Given the description of an element on the screen output the (x, y) to click on. 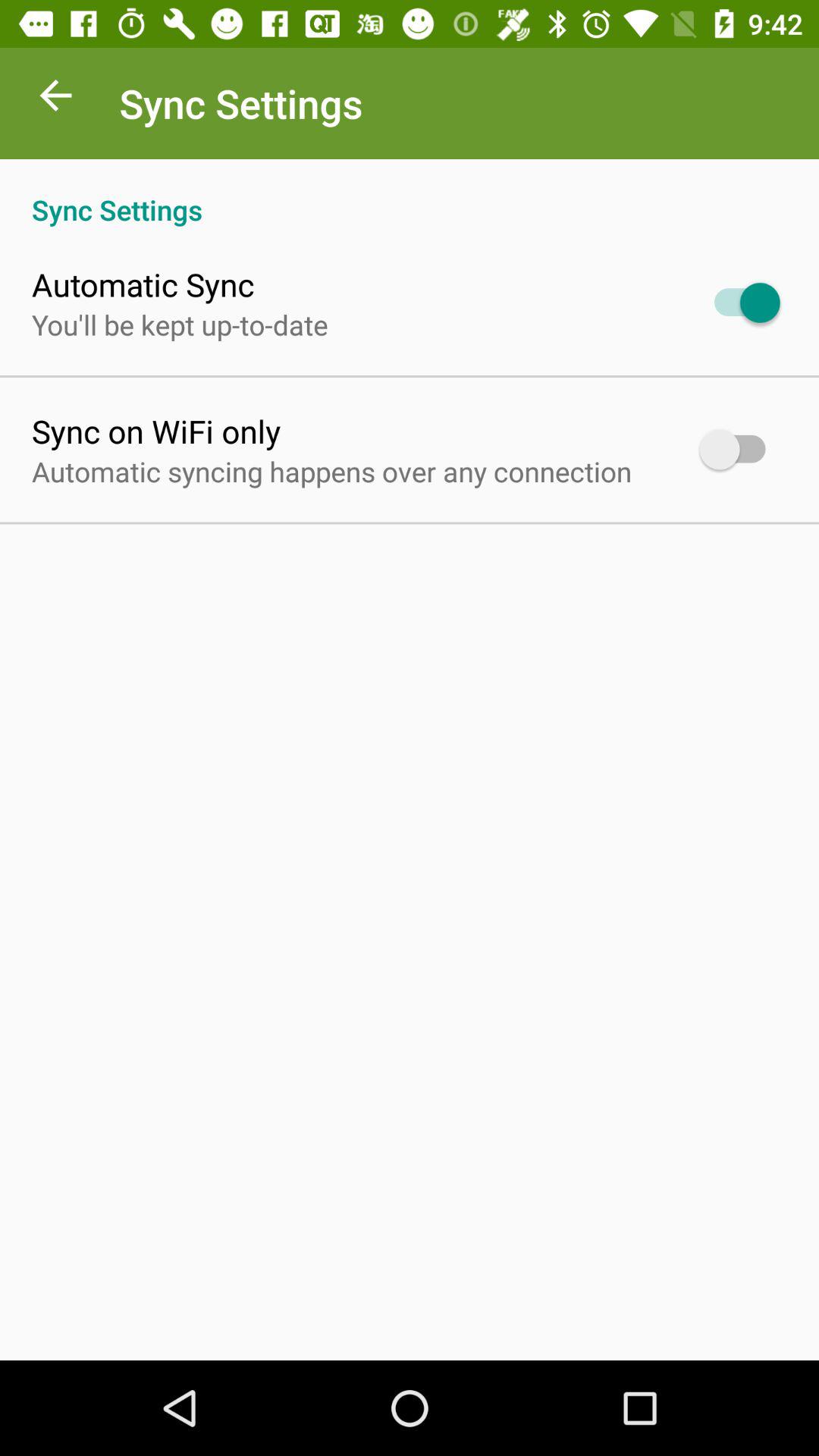
turn on the icon above automatic syncing happens app (155, 430)
